Given the description of an element on the screen output the (x, y) to click on. 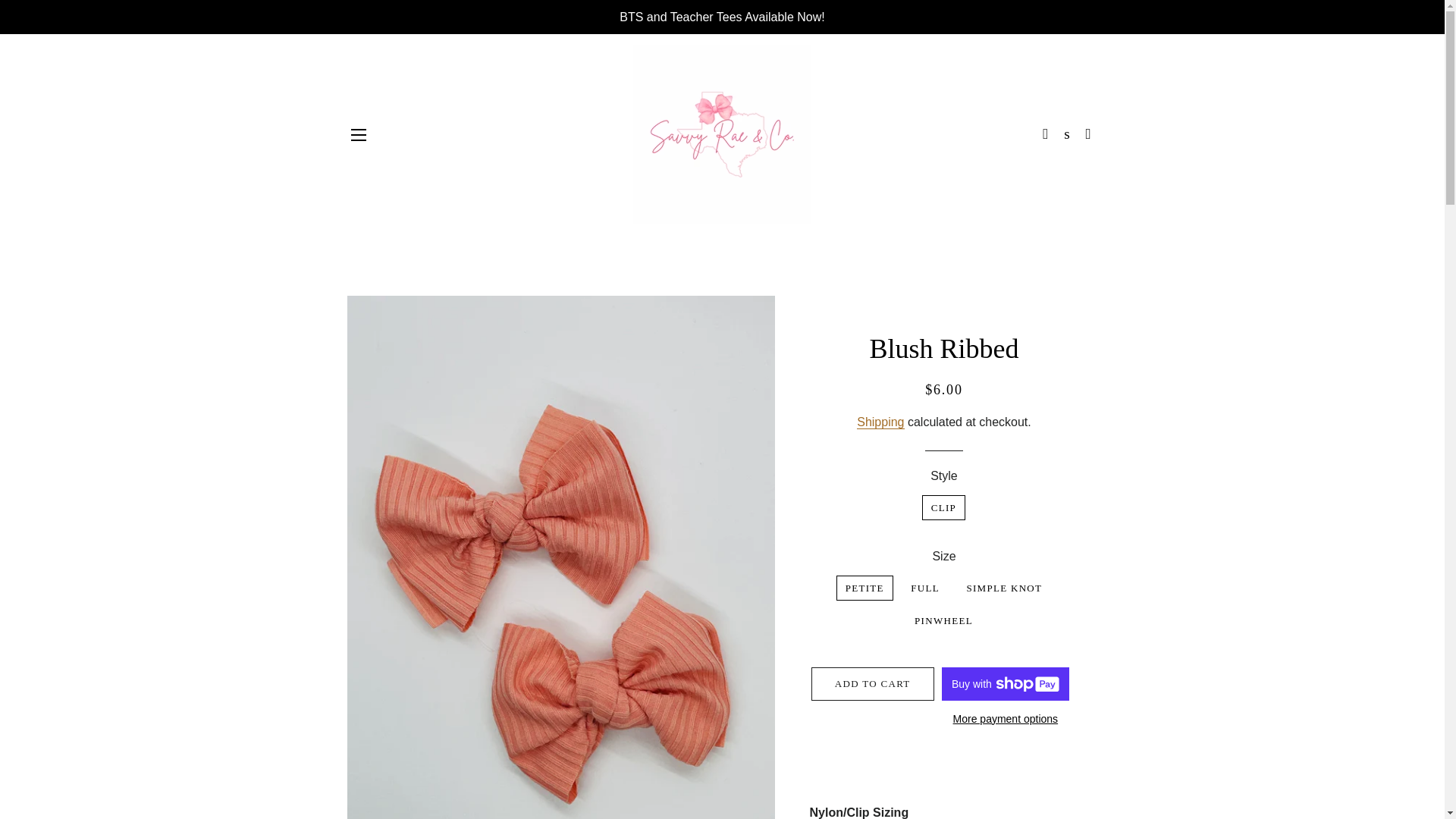
SITE NAVIGATION (358, 134)
